Given the description of an element on the screen output the (x, y) to click on. 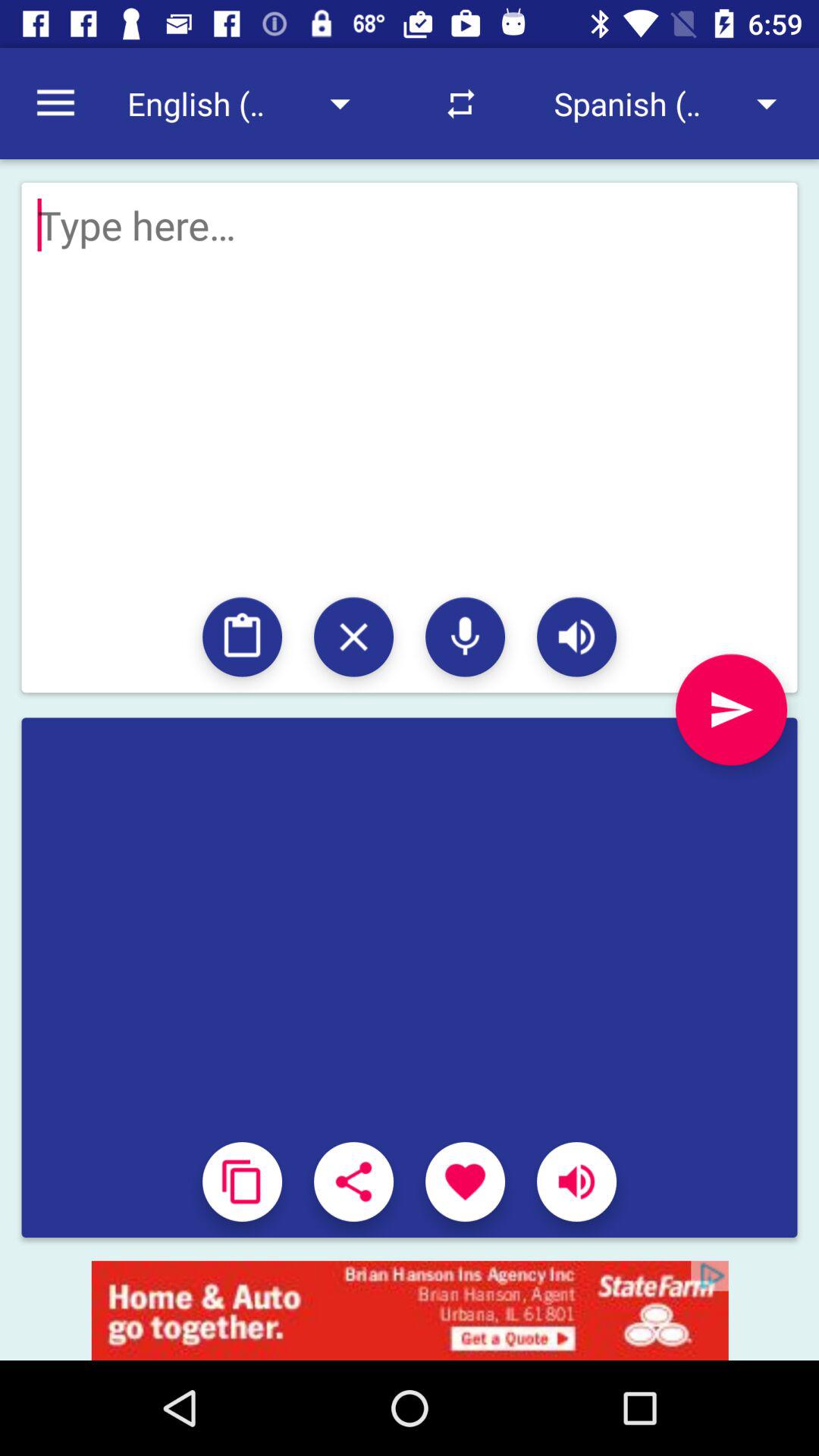
choose the selection (353, 1181)
